Given the description of an element on the screen output the (x, y) to click on. 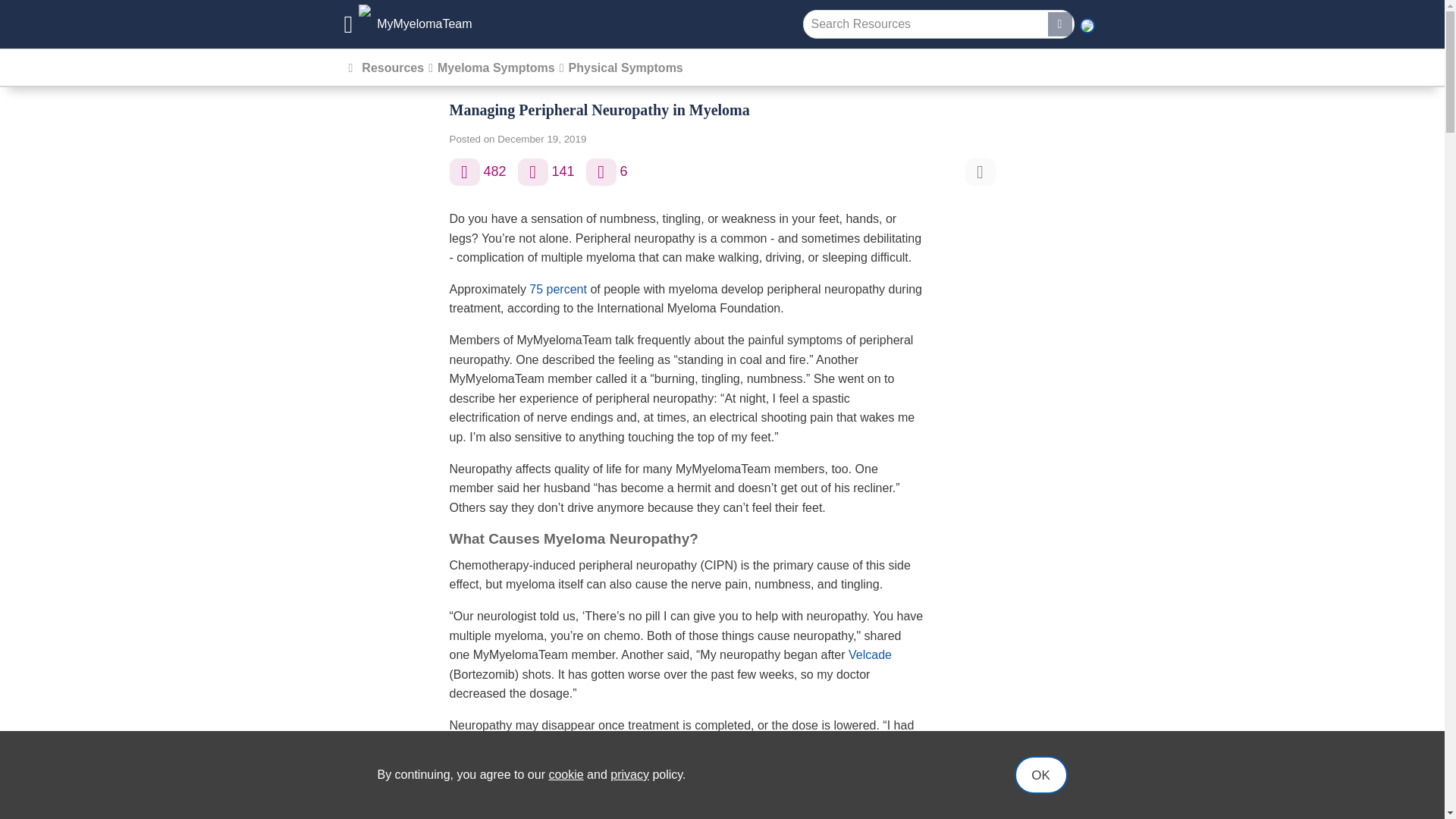
Myeloma Symptoms (495, 67)
MyMyelomaTeam (407, 23)
OK (1040, 774)
Ask a question (600, 171)
privacy (629, 774)
cookie (565, 774)
OK (1040, 774)
Physical Symptoms (625, 67)
Add a comment (533, 171)
I like this (463, 171)
Resources (392, 67)
